Given the description of an element on the screen output the (x, y) to click on. 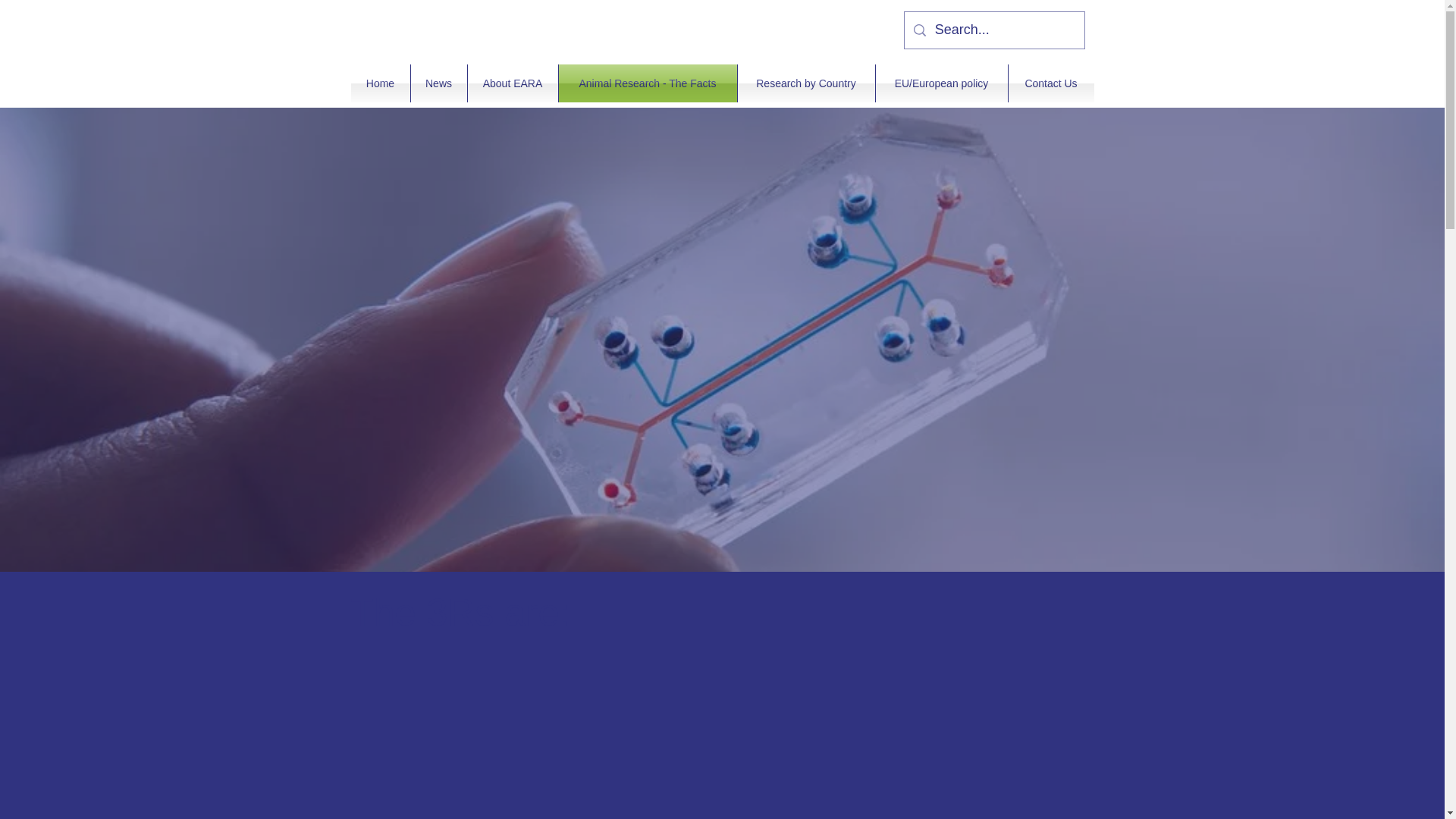
About EARA (512, 83)
Contact Us (1051, 83)
Research by Country (805, 83)
Home (379, 83)
News (438, 83)
Animal Research - The Facts (646, 83)
